Given the description of an element on the screen output the (x, y) to click on. 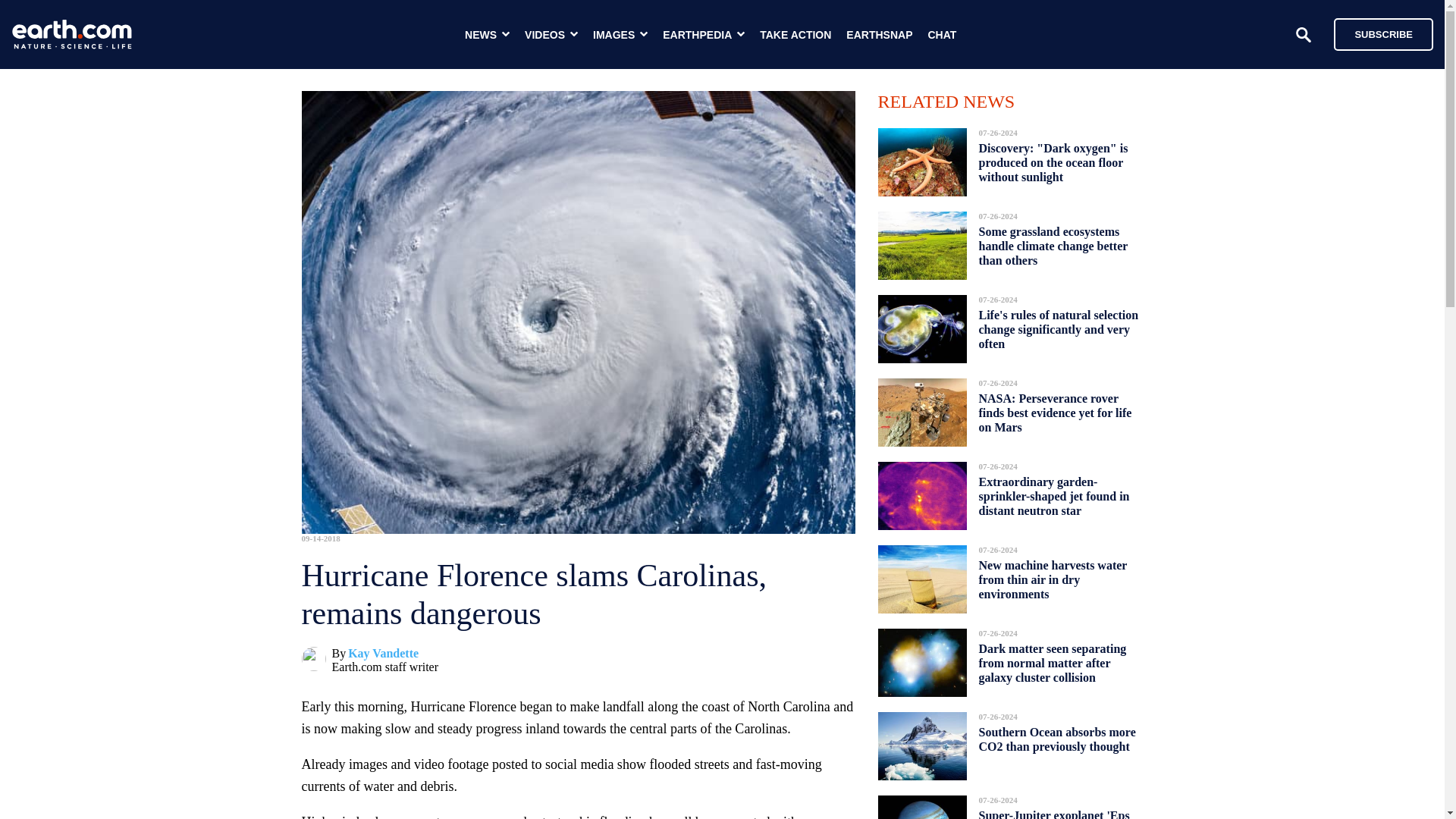
EARTHSNAP (878, 34)
SUBSCRIBE (1382, 34)
Kay Vandette (383, 653)
TAKE ACTION (795, 34)
New machine harvests water from thin air in dry environments (1052, 579)
Southern Ocean absorbs more CO2 than previously thought (1056, 739)
CHAT (941, 34)
SUBSCRIBE (1375, 33)
